Given the description of an element on the screen output the (x, y) to click on. 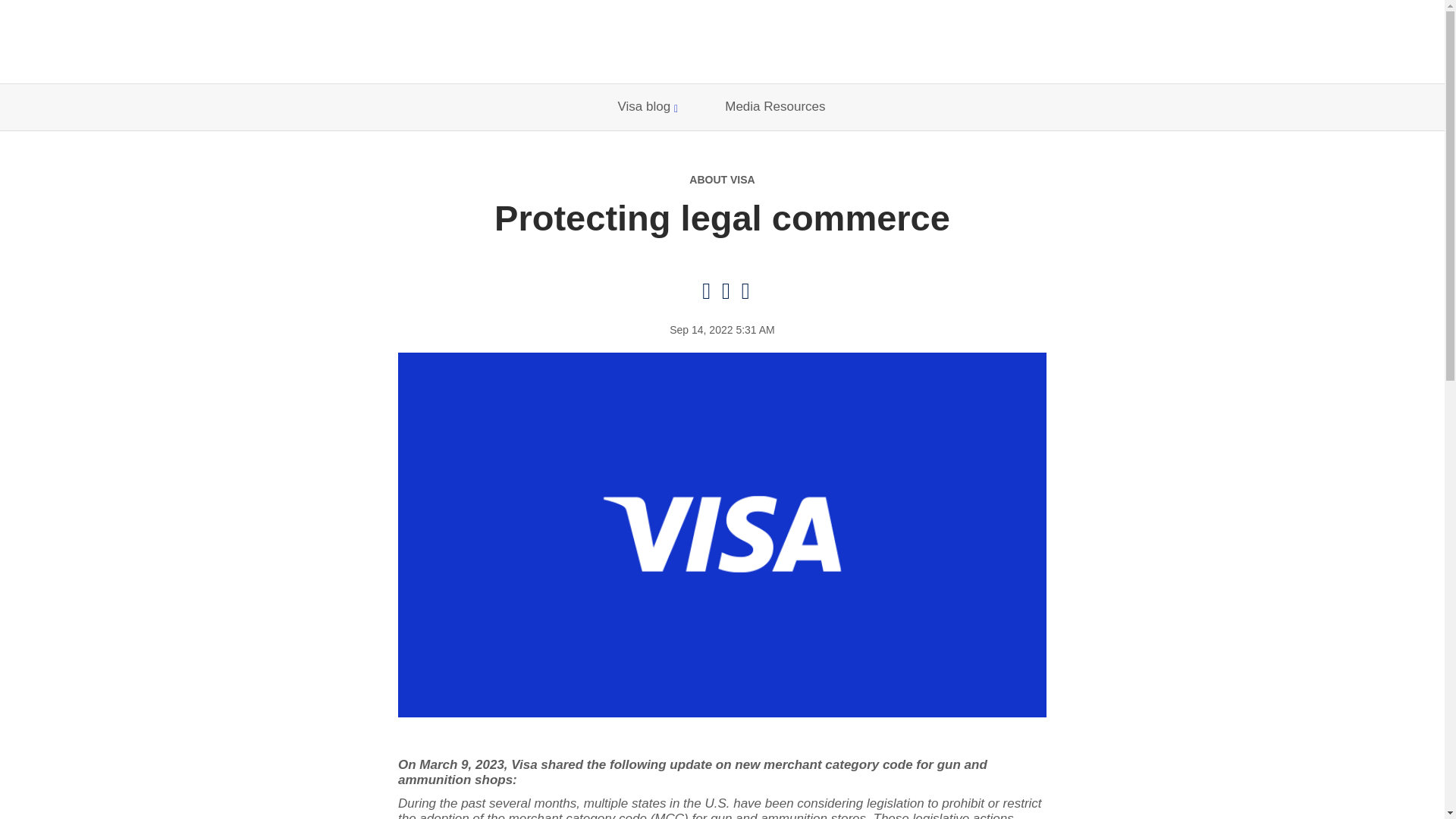
Media Resources (774, 107)
Visa blog (647, 107)
